Given the description of an element on the screen output the (x, y) to click on. 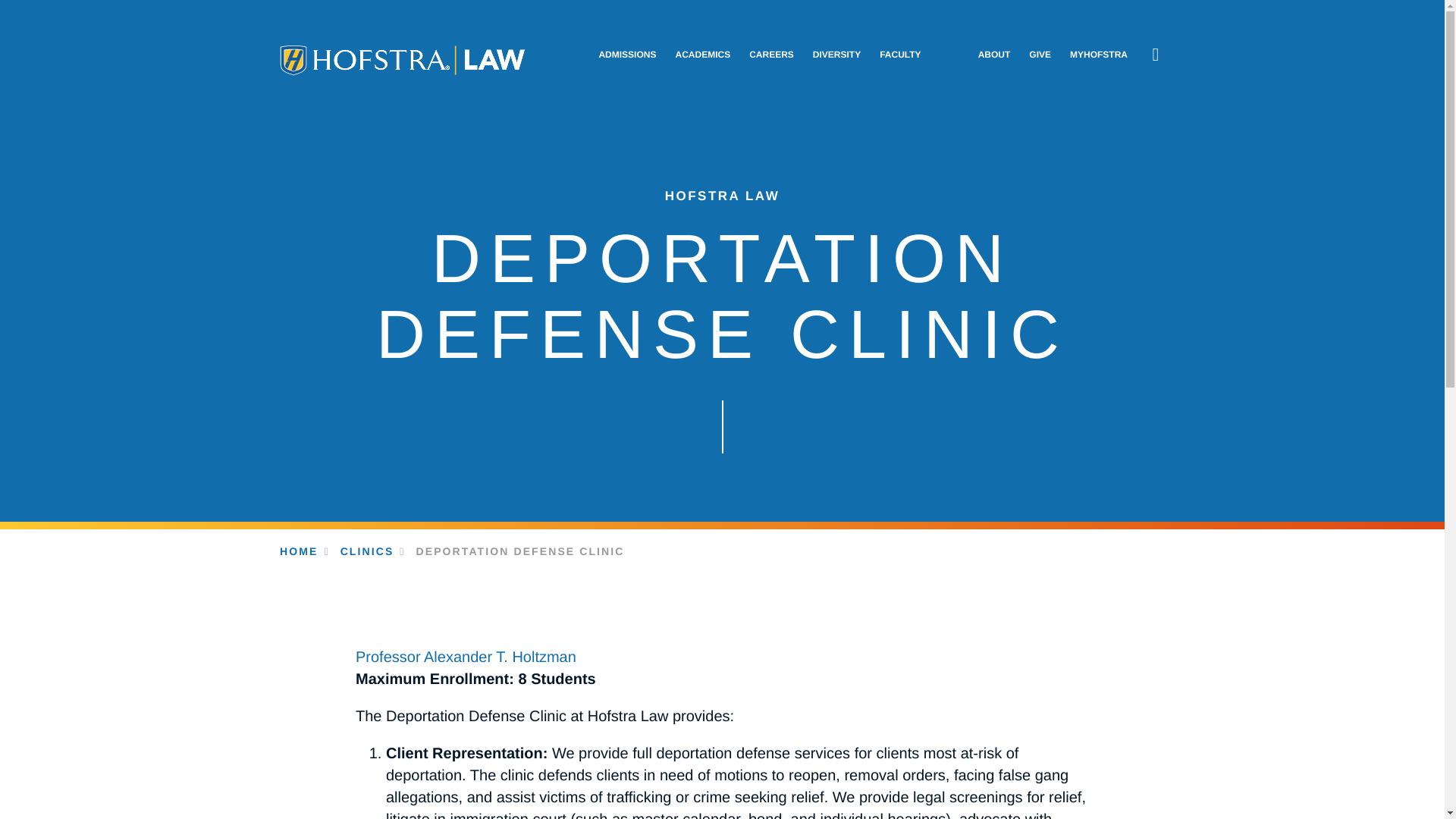
ADMISSIONS (627, 54)
MYHOFSTRA (1098, 54)
ABOUT (994, 54)
Search (1155, 54)
HOME (298, 551)
DIVERSITY (836, 54)
GIVE (1040, 54)
FACULTY (899, 54)
CAREERS (771, 54)
Professor Alexander T. Holtzman (465, 657)
CLINICS (367, 551)
ACADEMICS (702, 54)
